Given the description of an element on the screen output the (x, y) to click on. 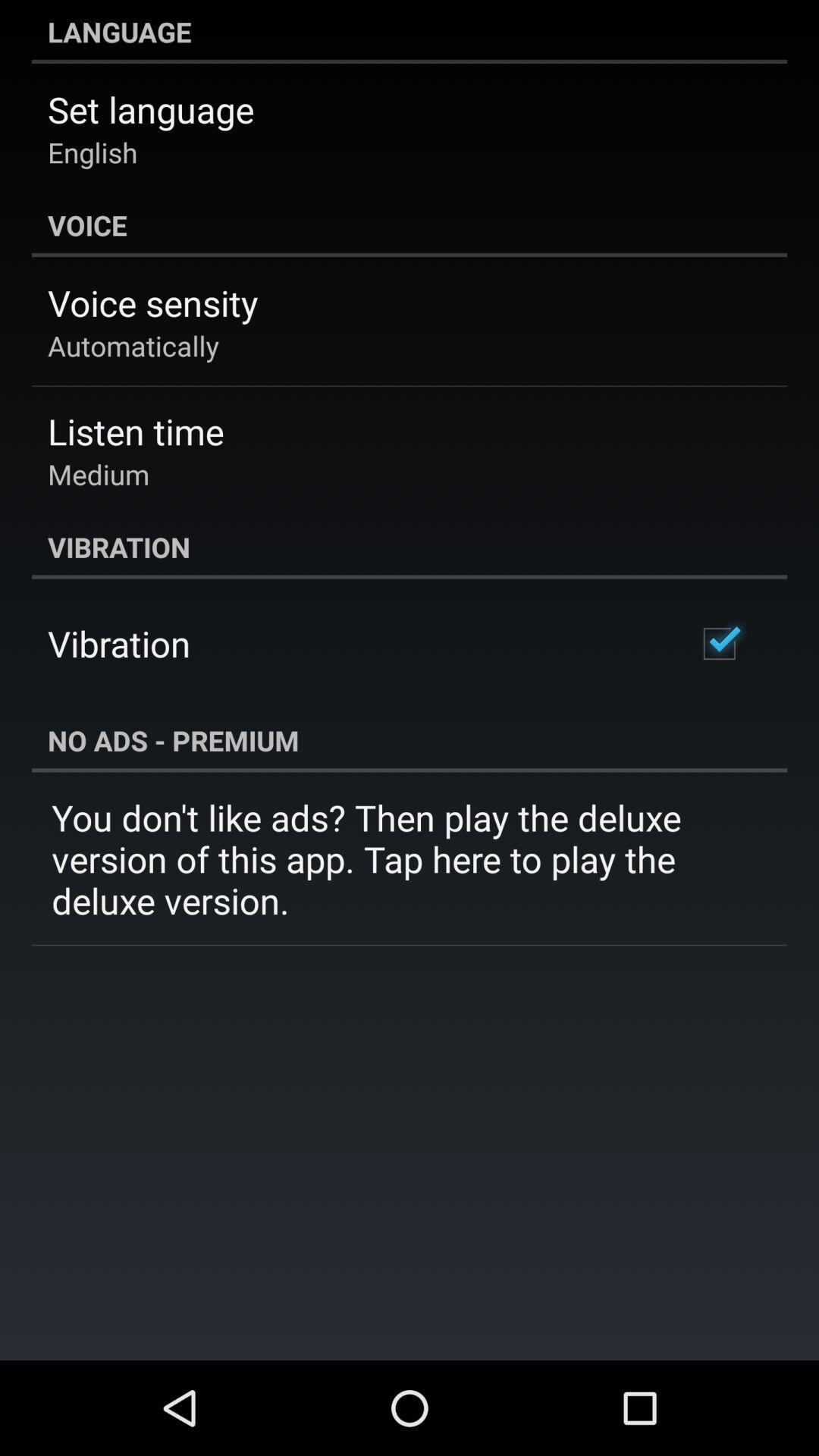
tap icon below set language (92, 152)
